Given the description of an element on the screen output the (x, y) to click on. 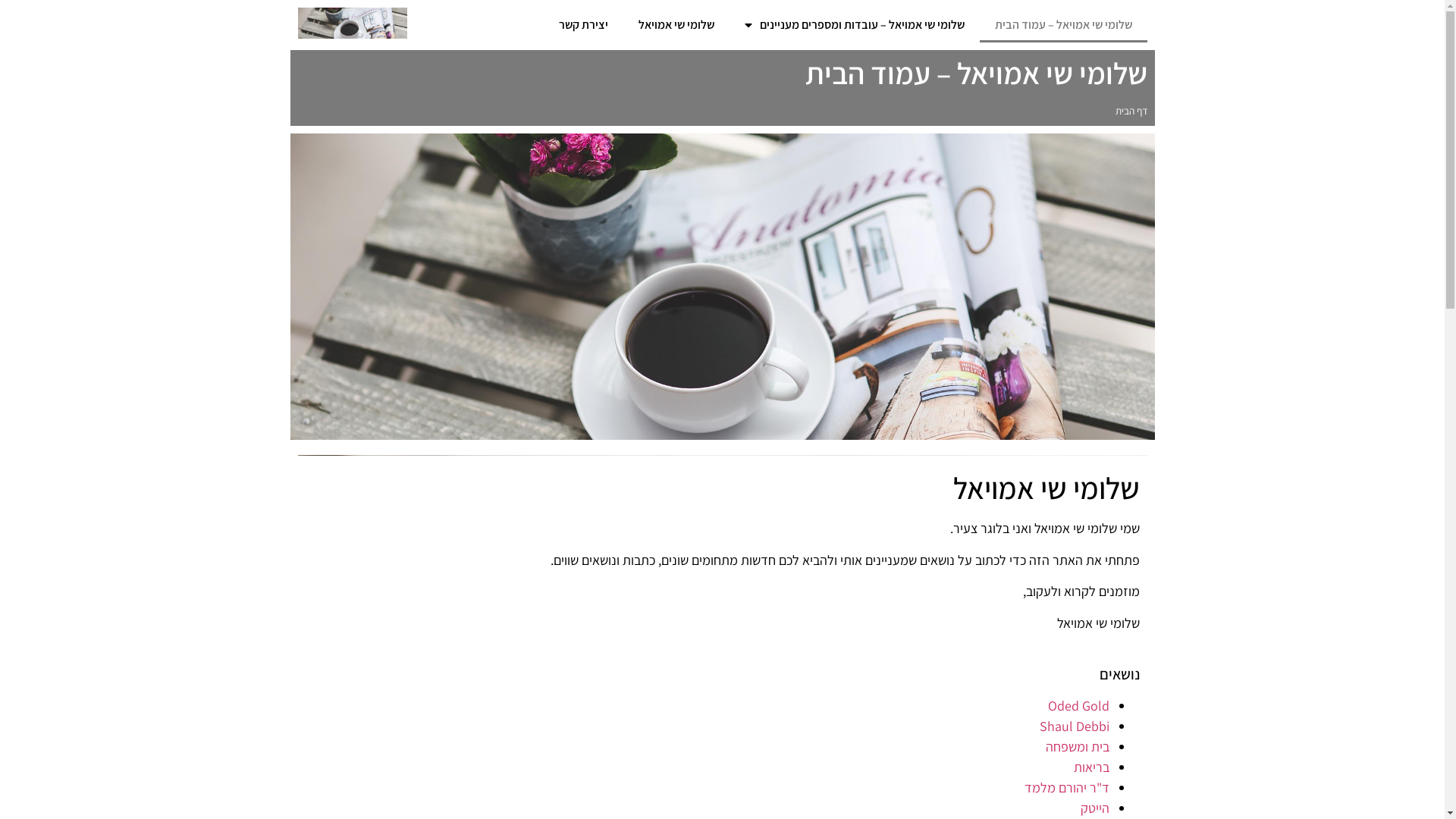
Oded Gold Element type: text (1078, 705)
Shaul Debbi Element type: text (1073, 725)
